Given the description of an element on the screen output the (x, y) to click on. 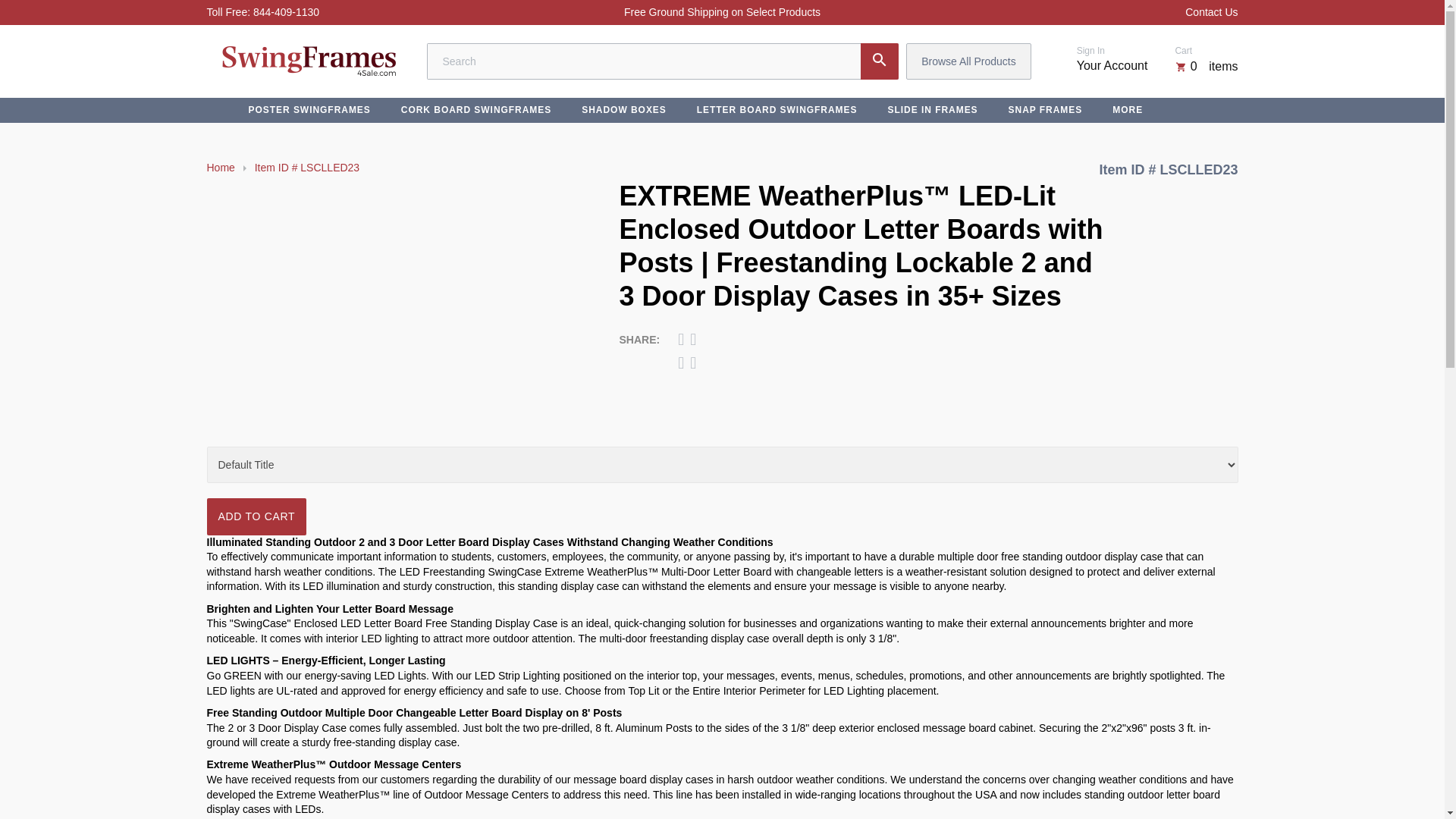
tel:844-409-1130 (285, 11)
Back to the frontpage (220, 168)
POSTER SWINGFRAMES (308, 110)
CORK BOARD SWINGFRAMES (476, 110)
GO (879, 61)
Browse All Products (967, 61)
844-409-1130 (285, 11)
0 items (1205, 65)
Your Account (1112, 65)
Sign In (1091, 50)
Contact Us (1211, 11)
SHADOW BOXES (624, 110)
Cart (1183, 50)
